Given the description of an element on the screen output the (x, y) to click on. 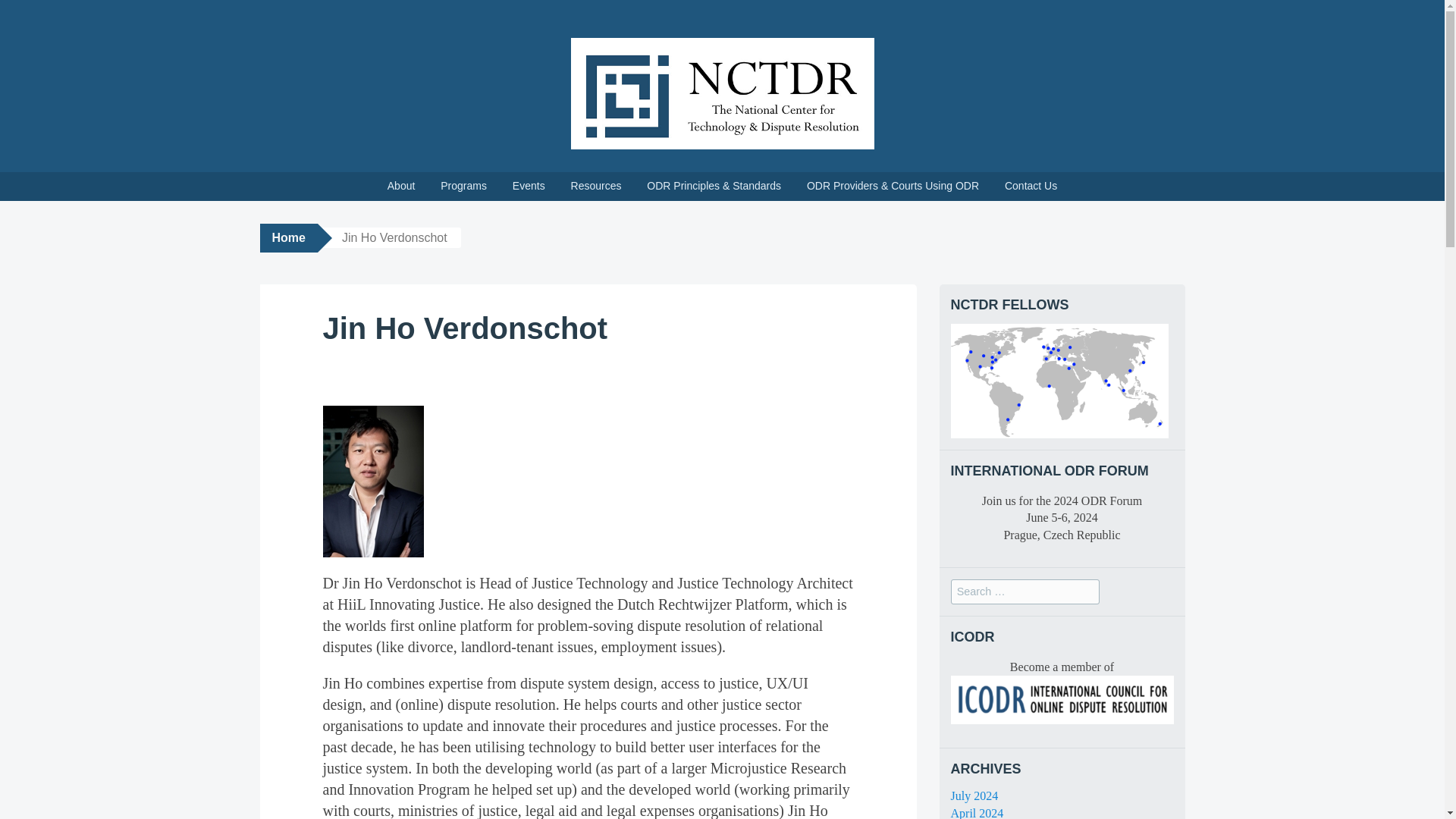
Home (288, 237)
Events (528, 185)
Skip to content (10, 178)
About (400, 185)
Programs (463, 185)
Resources (596, 185)
Contact Us (1030, 185)
